Given the description of an element on the screen output the (x, y) to click on. 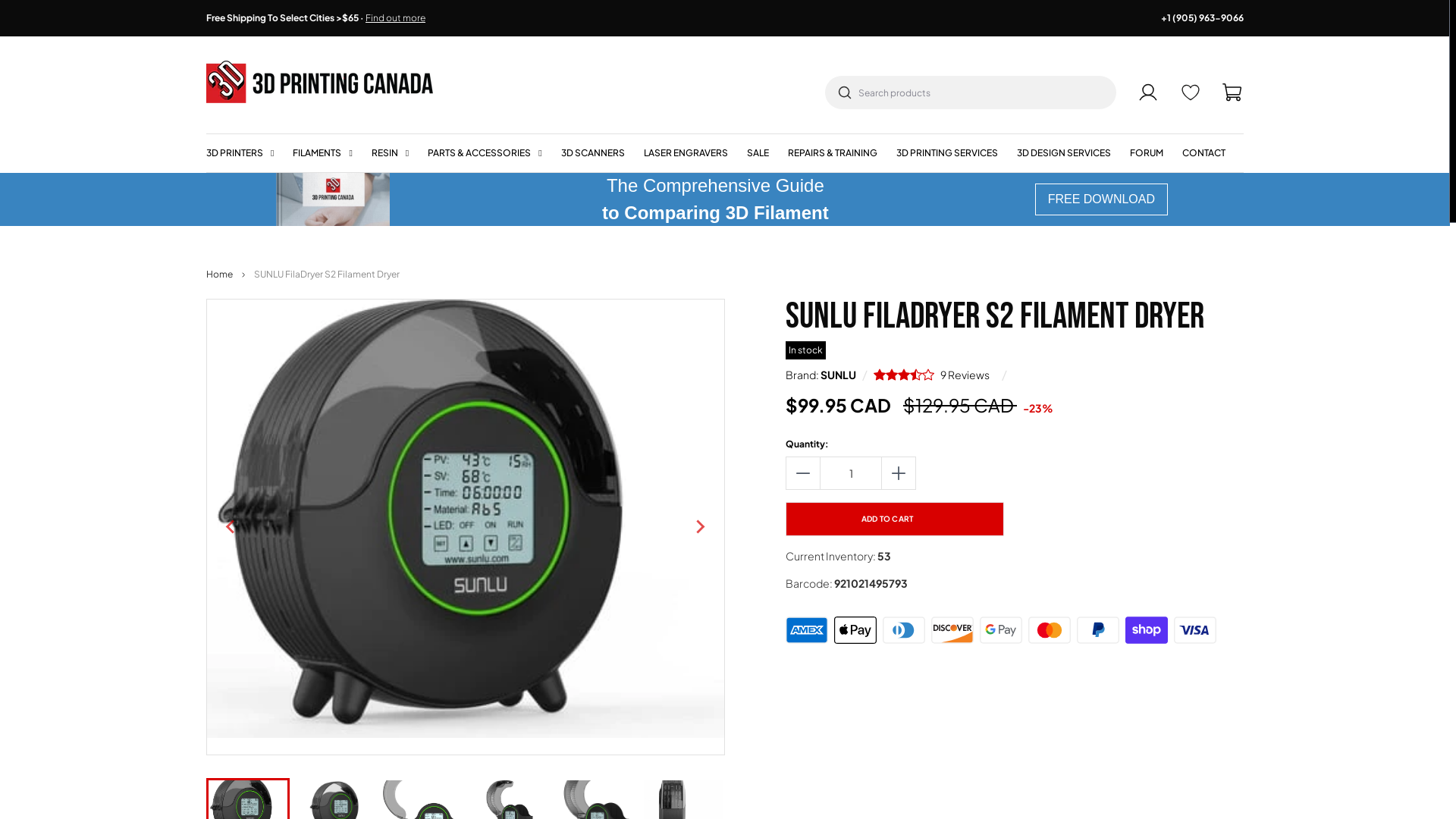
RESIN Element type: text (389, 153)
3D PRINTERS Element type: text (239, 153)
CONTACT Element type: text (1203, 153)
3D SCANNERS Element type: text (592, 153)
+1 (905) 963-9066 Element type: text (1202, 18)
ADD TO CART Element type: text (894, 519)
Find out more Element type: text (395, 18)
3D DESIGN SERVICES Element type: text (1063, 153)
PARTS & ACCESSORIES Element type: text (484, 153)
SUNLU Element type: text (838, 374)
3D PRINTING SERVICES Element type: text (946, 153)
REPAIRS & TRAINING Element type: text (832, 153)
FILAMENTS Element type: text (321, 153)
SALE Element type: text (757, 153)
Home Element type: text (219, 274)
FORUM Element type: text (1146, 153)
9 Reviews Element type: text (934, 374)
LASER ENGRAVERS Element type: text (685, 153)
